Given the description of an element on the screen output the (x, y) to click on. 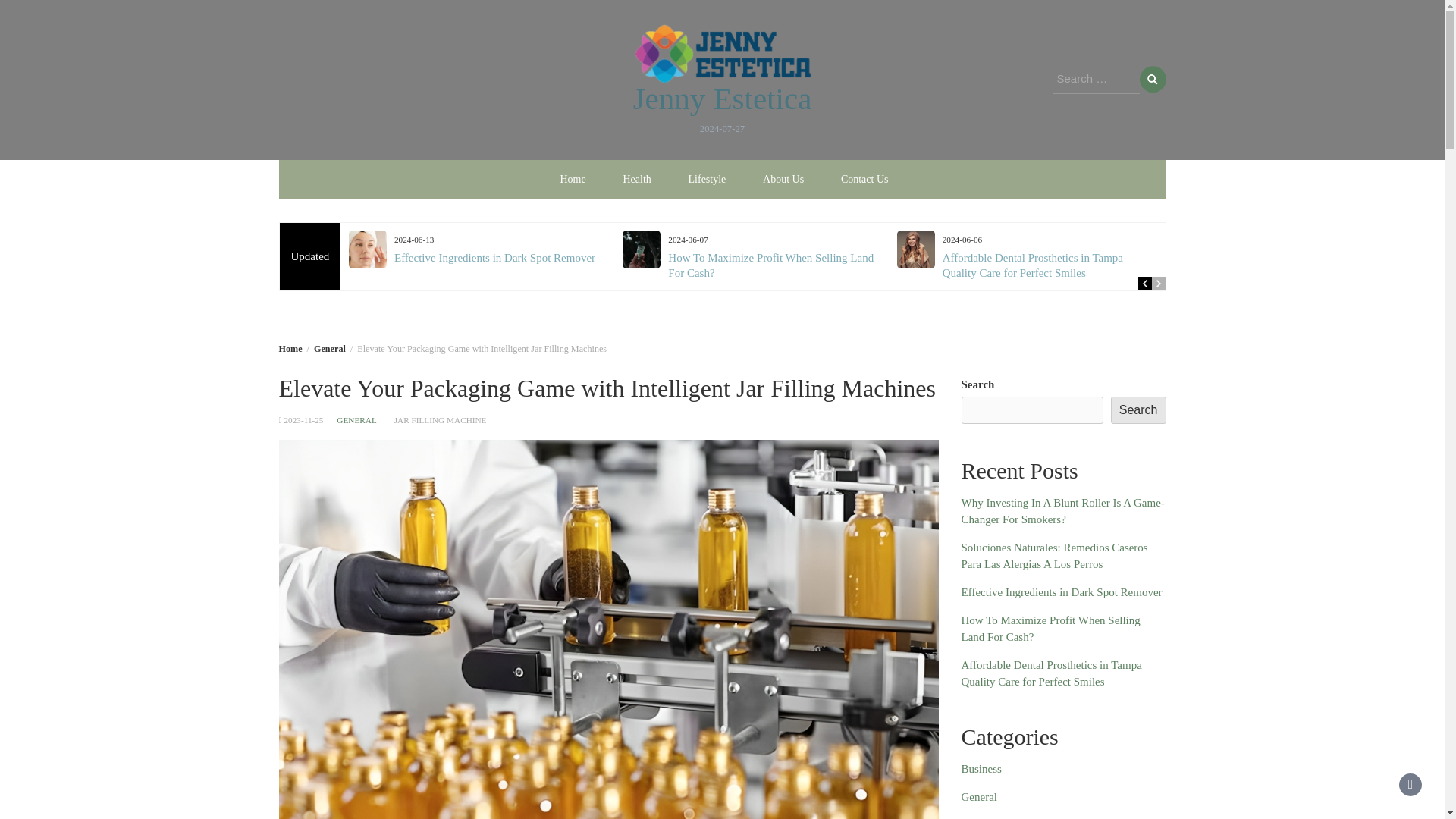
Effective Ingredients in Dark Spot Remover (494, 257)
Search (1152, 79)
Search (1152, 79)
GENERAL (356, 420)
Search (1152, 79)
How To Maximize Profit When Selling Land For Cash? (770, 265)
2023-11-25 (303, 420)
Jenny Estetica (722, 98)
Lifestyle (706, 178)
Home (290, 347)
Contact Us (864, 178)
Home (571, 178)
Search for: (1096, 80)
General (330, 347)
